Given the description of an element on the screen output the (x, y) to click on. 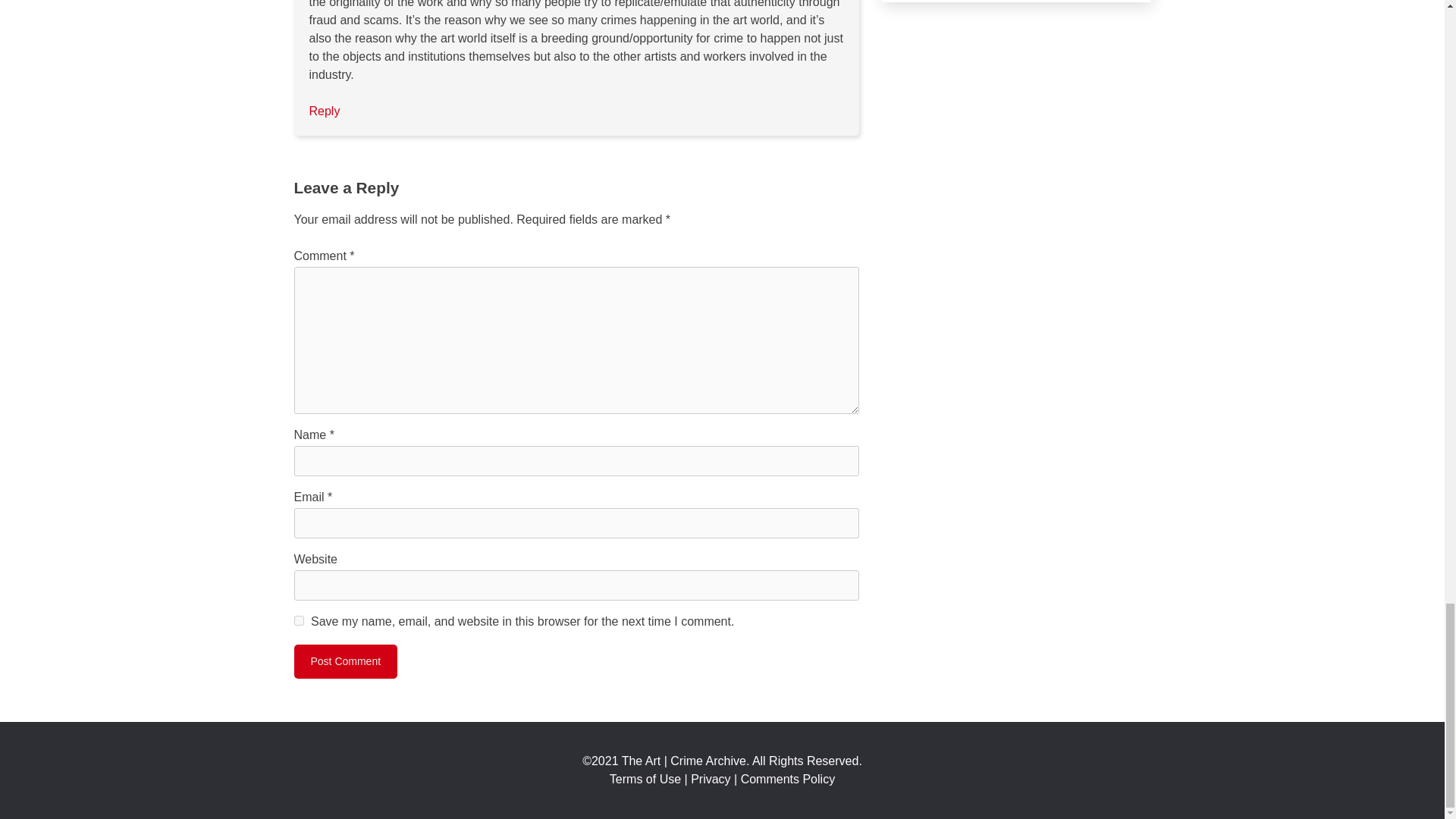
Post Comment (345, 661)
yes (299, 620)
